Given the description of an element on the screen output the (x, y) to click on. 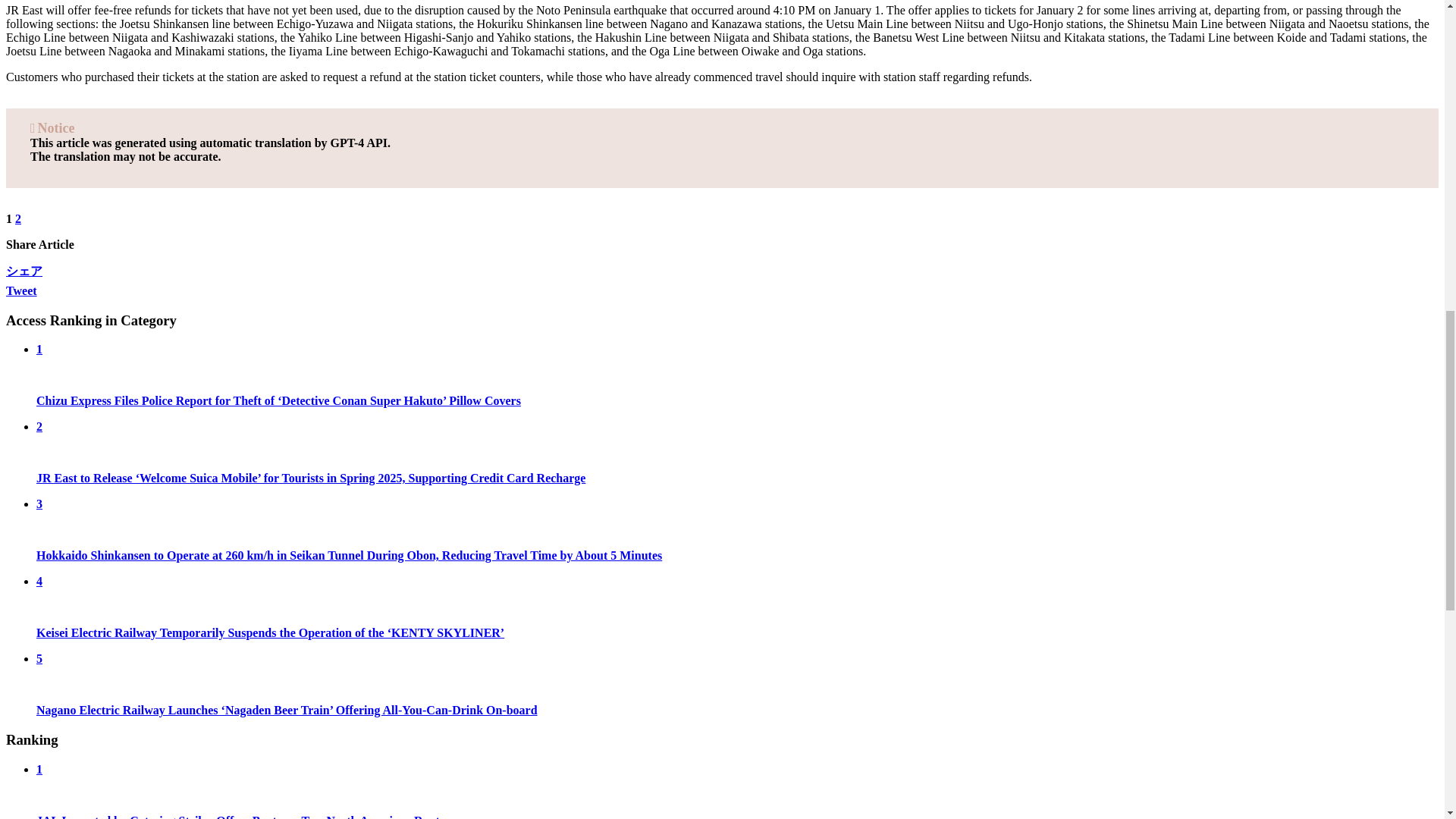
Tweet (21, 290)
